Given the description of an element on the screen output the (x, y) to click on. 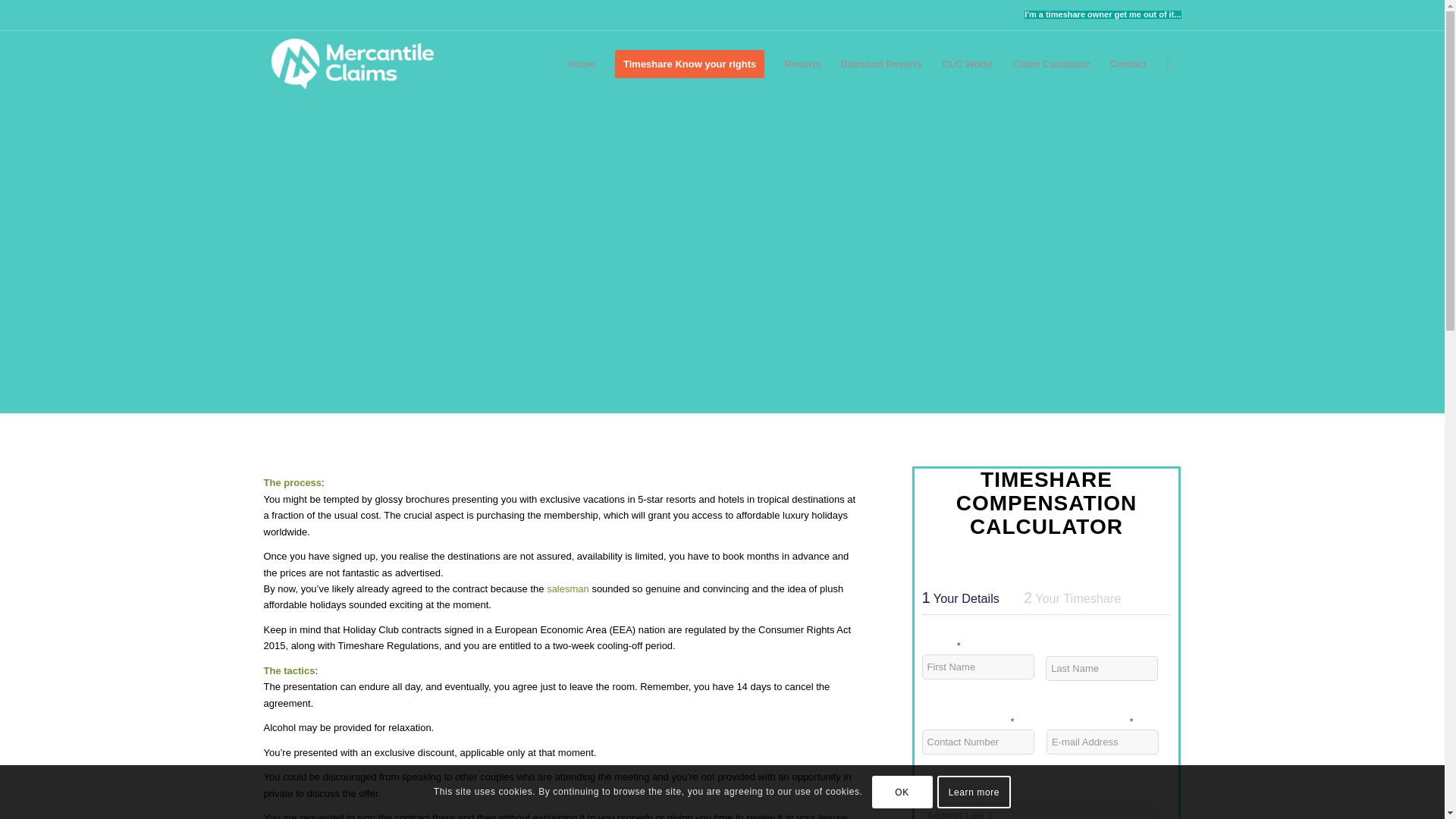
Timeshare Know your rights (689, 64)
CLC World (967, 64)
Diamond Resorts (882, 64)
I'm a timeshare owner get me out of it... (1102, 13)
Claim Calculator (1051, 64)
